Given the description of an element on the screen output the (x, y) to click on. 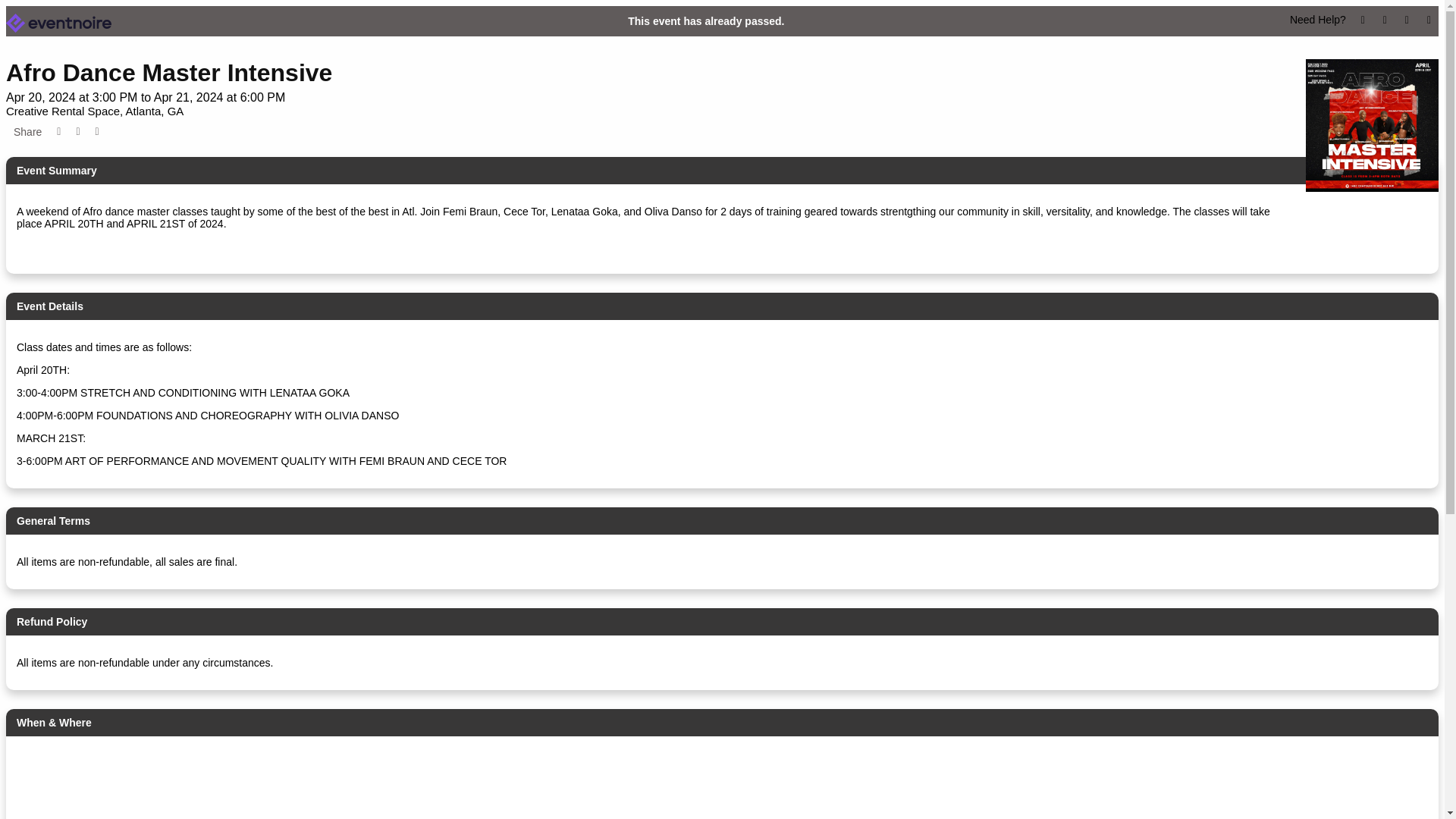
Afro Dance Master Intensive (168, 72)
Share this page on Facebook (58, 131)
Share this page on LinkedIn (96, 131)
Need Help? (1317, 19)
Share this page on Twitter (77, 131)
